Given the description of an element on the screen output the (x, y) to click on. 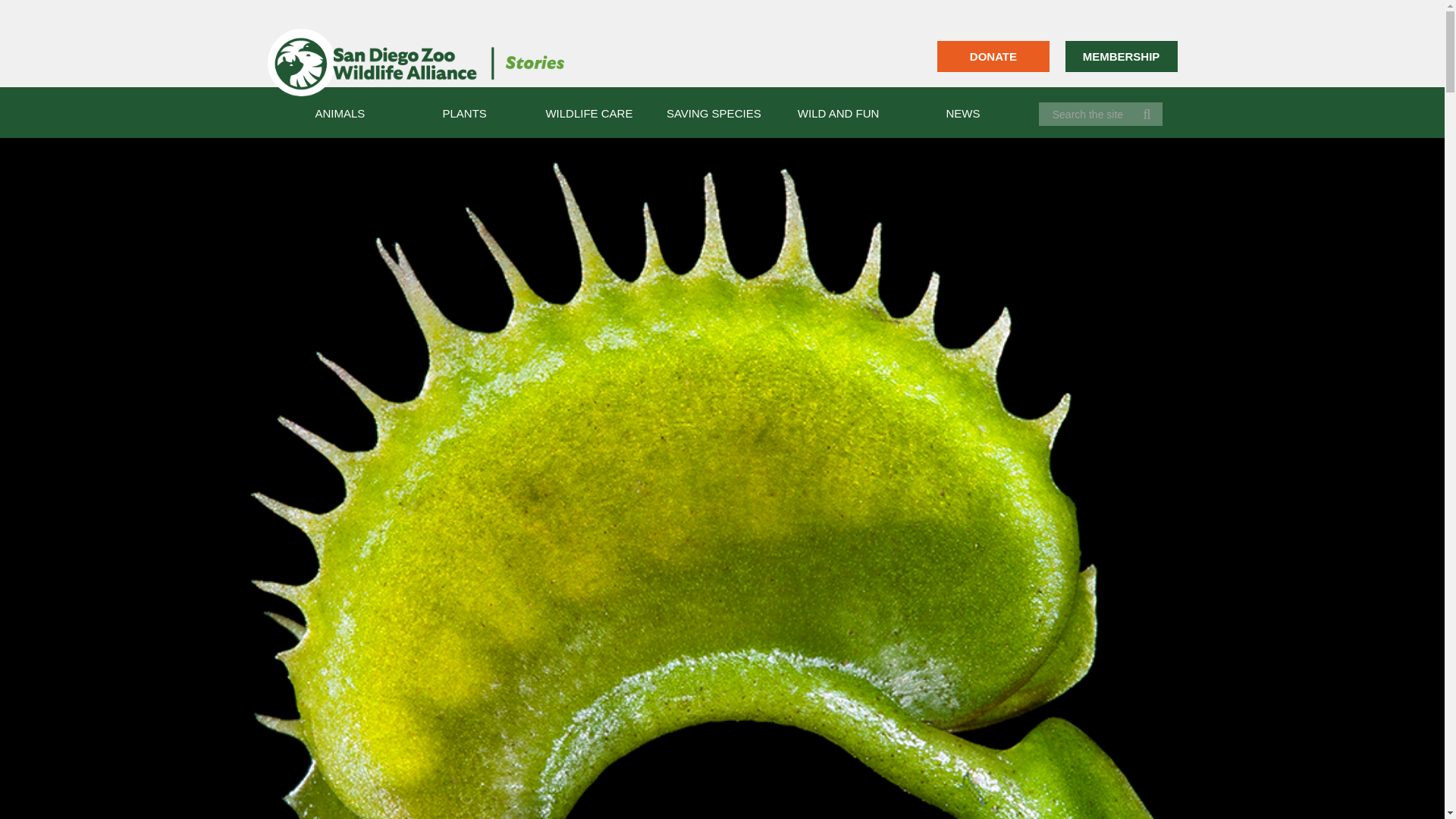
NEWS (963, 112)
WILDLIFE CARE (588, 112)
PLANTS (464, 112)
SAVING SPECIES (713, 112)
MEMBERSHIP (1120, 56)
WILD AND FUN (838, 112)
ANIMALS (339, 112)
DONATE (993, 56)
